Given the description of an element on the screen output the (x, y) to click on. 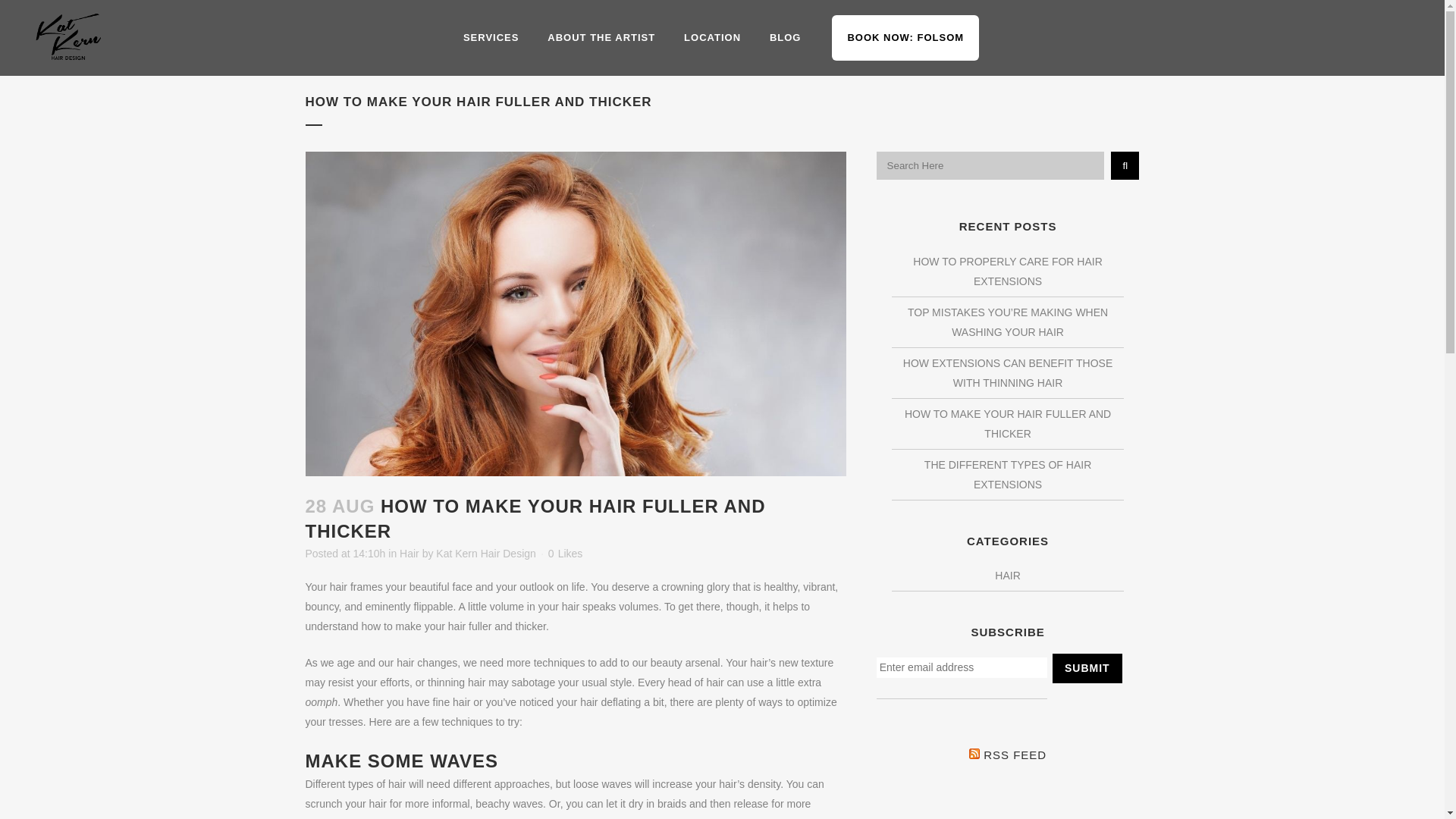
BOOK NOW: FOLSOM (904, 37)
Like this (565, 552)
SERVICES (490, 38)
ABOUT THE ARTIST (601, 38)
Imaginal Marketing Group (754, 783)
HOW TO MAKE YOUR HAIR FULLER AND THICKER (1007, 423)
THE DIFFERENT TYPES OF HAIR EXTENSIONS (1007, 474)
Kat Kern Hair Design (485, 553)
Hair (408, 553)
HOW TO PROPERLY CARE FOR HAIR EXTENSIONS (1007, 271)
Submit (1087, 668)
LOCATION (712, 38)
Submit (1087, 668)
HOW EXTENSIONS CAN BENEFIT THOSE WITH THINNING HAIR (1007, 373)
0 Likes (565, 552)
